Given the description of an element on the screen output the (x, y) to click on. 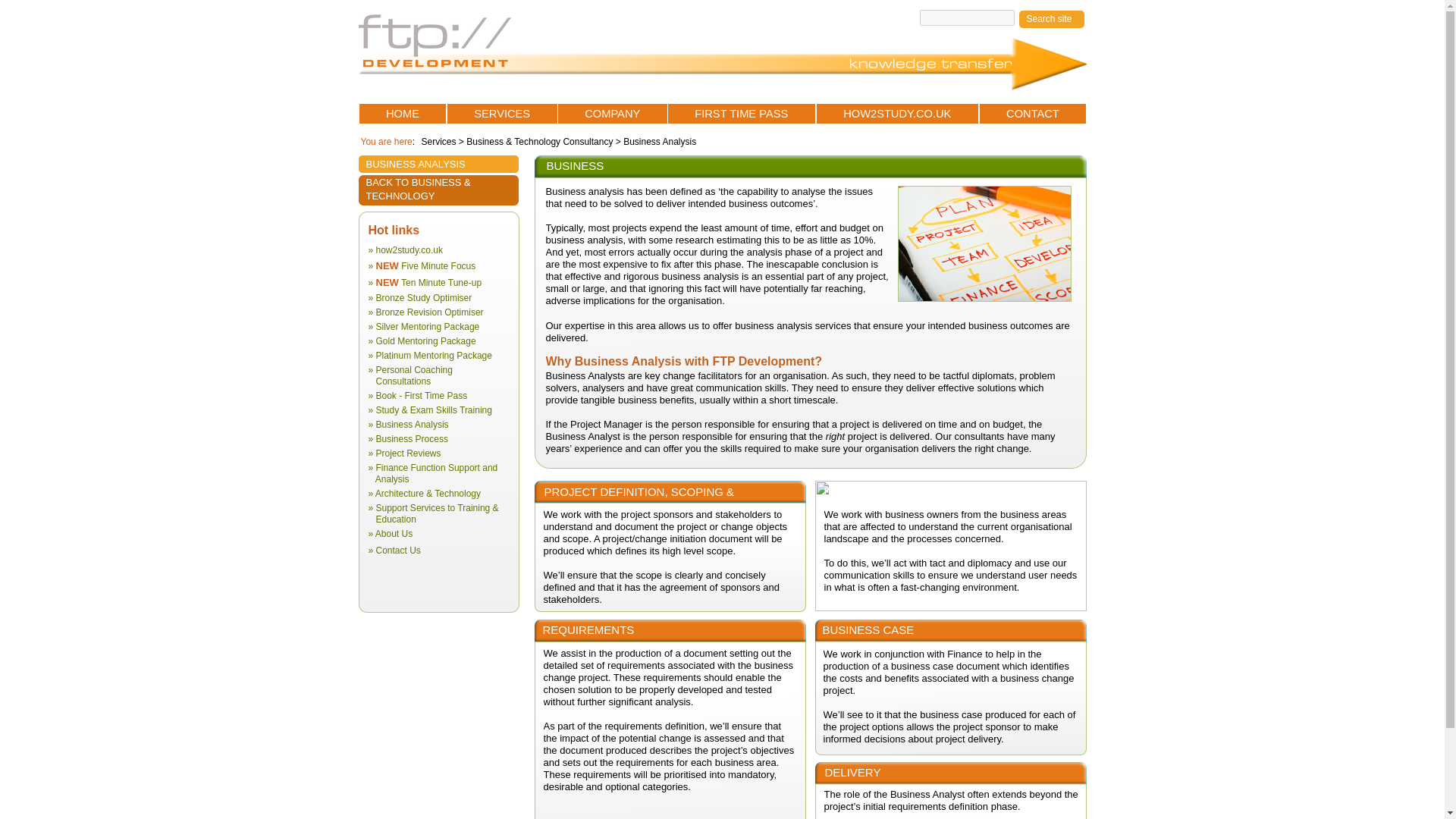
Search site (1048, 18)
CONTACT (1032, 113)
HOME (402, 113)
Services (440, 141)
SERVICES (501, 113)
FIRST TIME PASS (740, 113)
Business Analysis (658, 141)
HOW2STUDY.CO.UK (896, 113)
COMPANY (611, 113)
